Given the description of an element on the screen output the (x, y) to click on. 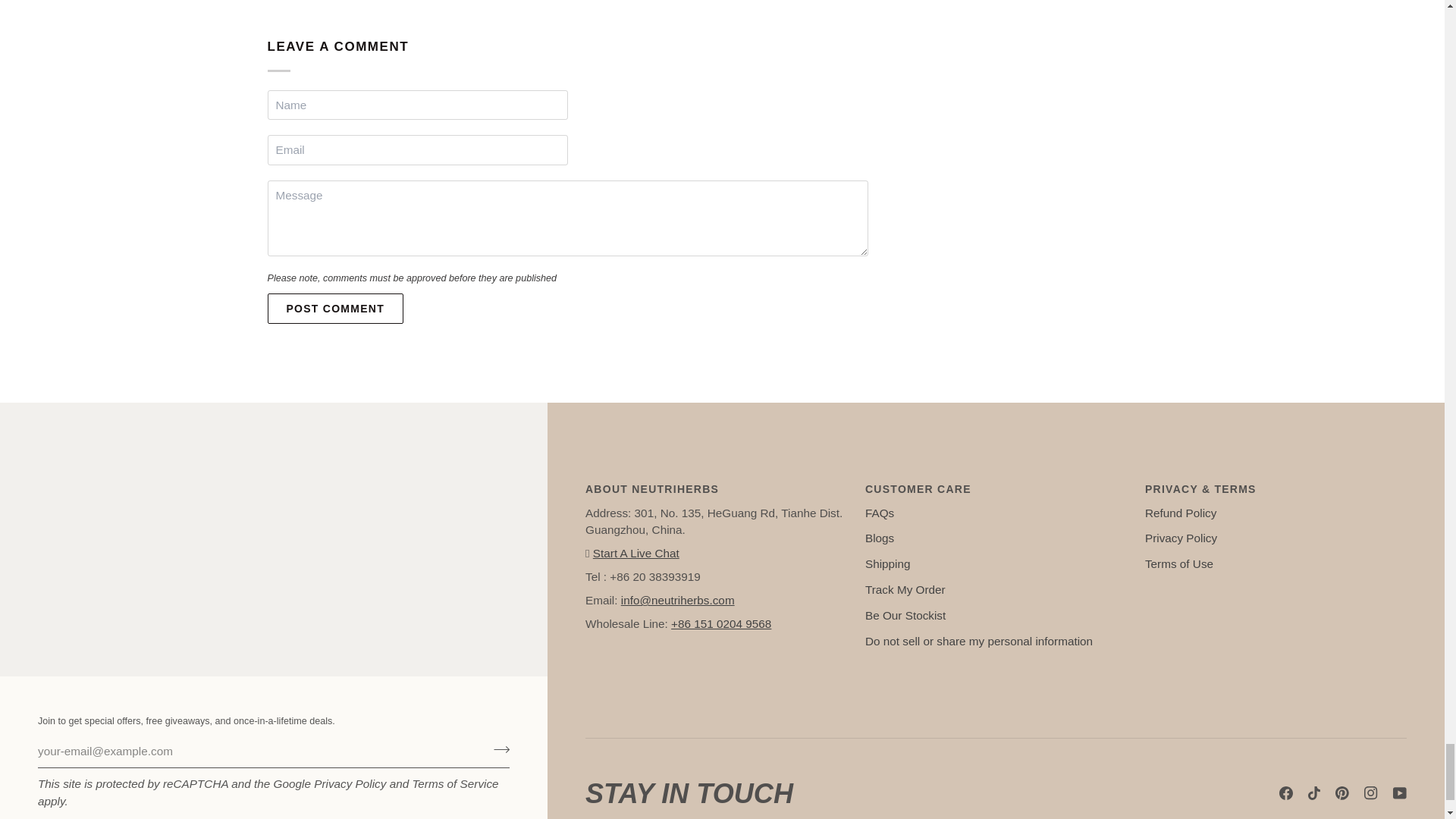
Instagram (1370, 793)
Pinterest (1342, 793)
Facebook (1285, 793)
YouTube (1399, 793)
